Given the description of an element on the screen output the (x, y) to click on. 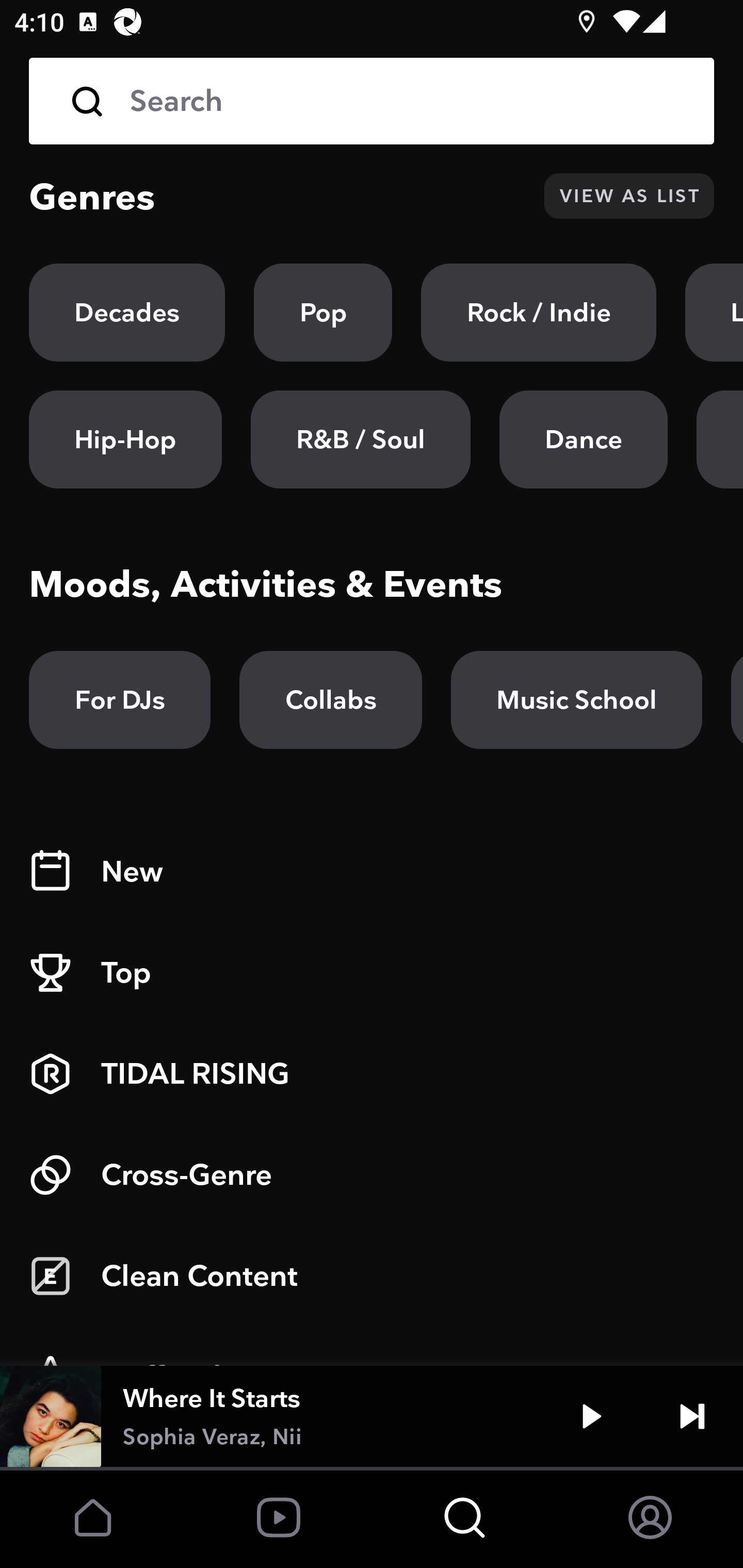
Search (371, 101)
Search (407, 100)
VIEW AS LIST (629, 195)
Decades (126, 312)
Pop (323, 312)
Rock / Indie (538, 312)
Hip-Hop (125, 439)
R&B / Soul (360, 439)
Dance (583, 439)
For DJs (119, 699)
Collabs (330, 699)
Music School (576, 699)
New (371, 871)
Top (371, 972)
TIDAL RISING (371, 1073)
Cross-Genre (371, 1175)
Clean Content (371, 1276)
Where It Starts Sophia Veraz, Nii Play (371, 1416)
Play (590, 1416)
